Given the description of an element on the screen output the (x, y) to click on. 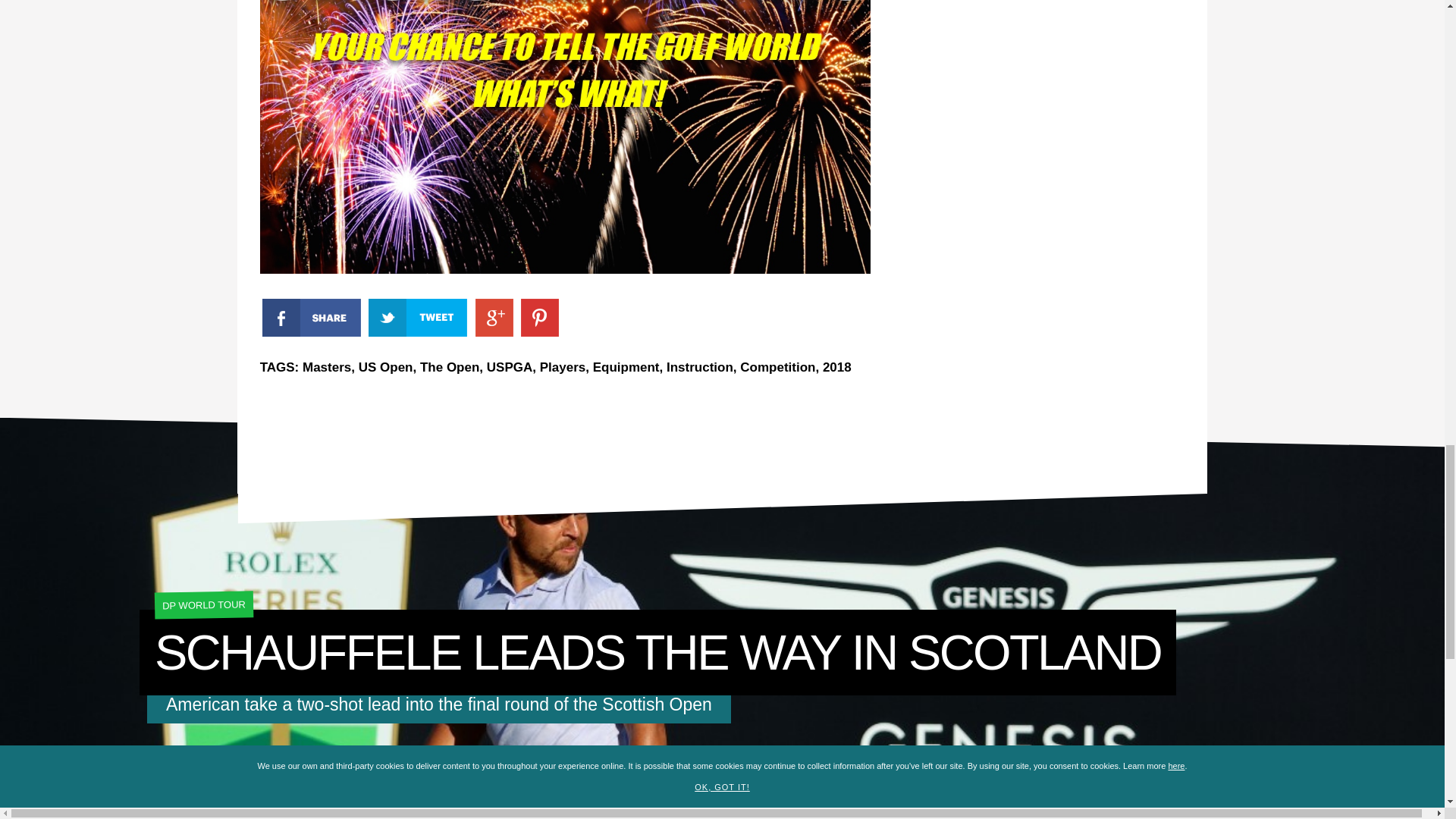
Competition (777, 367)
US Open (385, 367)
Players (563, 367)
Equipment (625, 367)
The Open (449, 367)
Instruction (699, 367)
2018 (836, 367)
USPGA (509, 367)
